Given the description of an element on the screen output the (x, y) to click on. 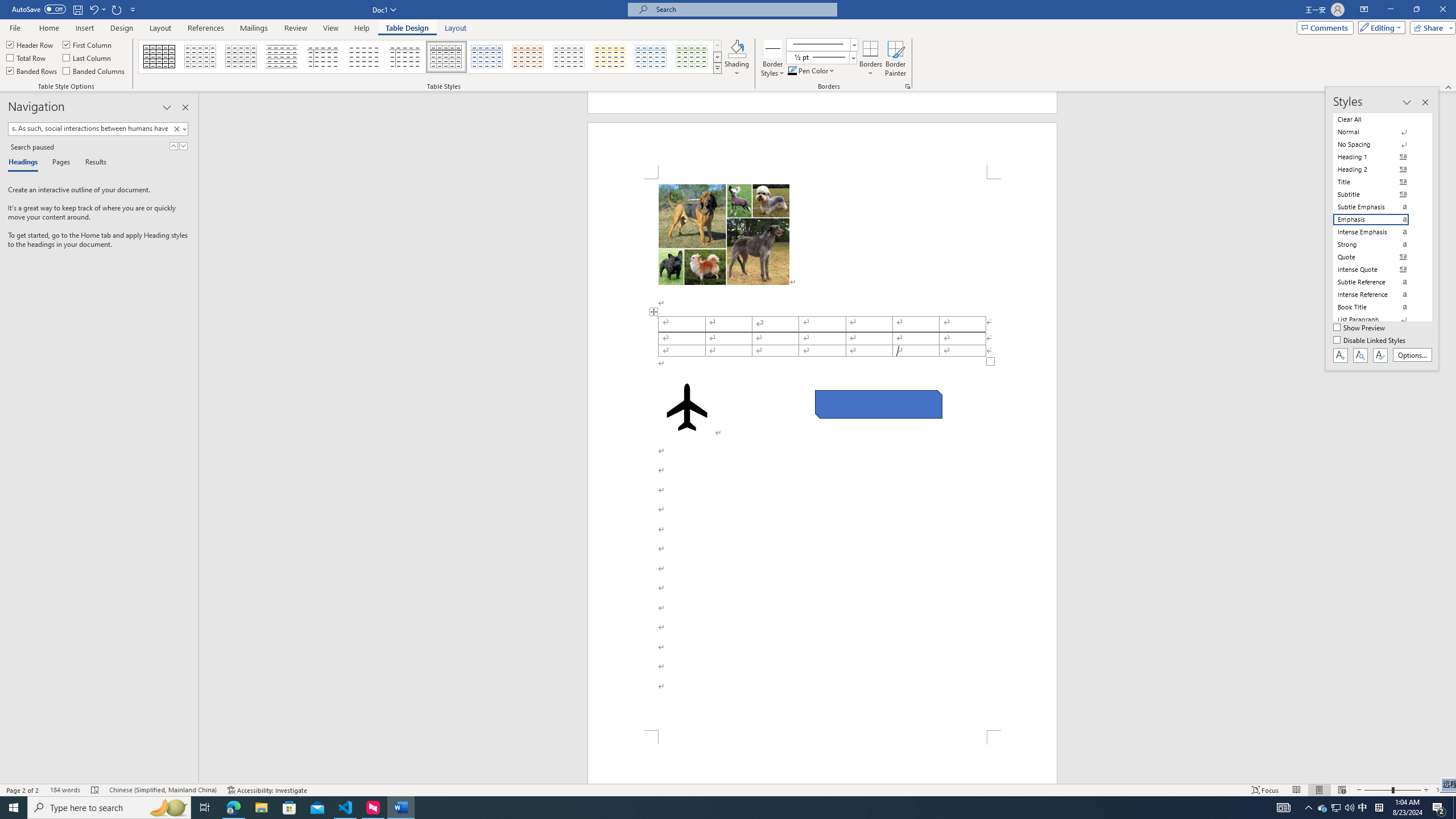
Grid Table 1 Light (446, 56)
Class: NetUIButton (1380, 355)
Grid Table 1 Light - Accent 3 (568, 56)
Word Count 184 words (64, 790)
Rectangle: Diagonal Corners Snipped 2 (878, 403)
Table Grid (159, 56)
No Spacing (1377, 144)
